Given the description of an element on the screen output the (x, y) to click on. 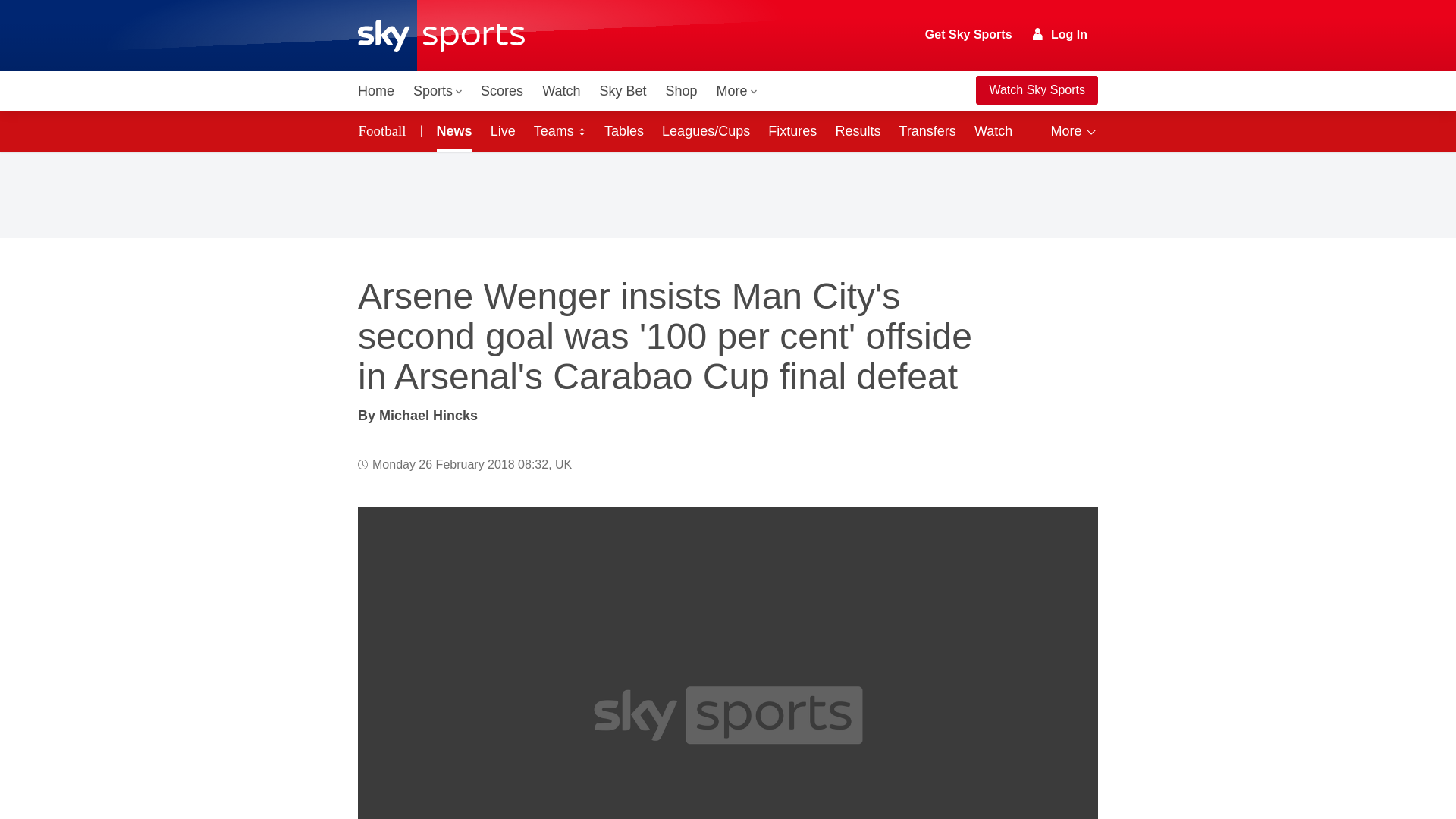
Share (1067, 536)
Football (385, 130)
Sports (437, 91)
Watch (561, 91)
Sky Bet (622, 91)
Shop (681, 91)
Get Sky Sports (968, 34)
Scores (502, 91)
Home (375, 91)
More (736, 91)
